Given the description of an element on the screen output the (x, y) to click on. 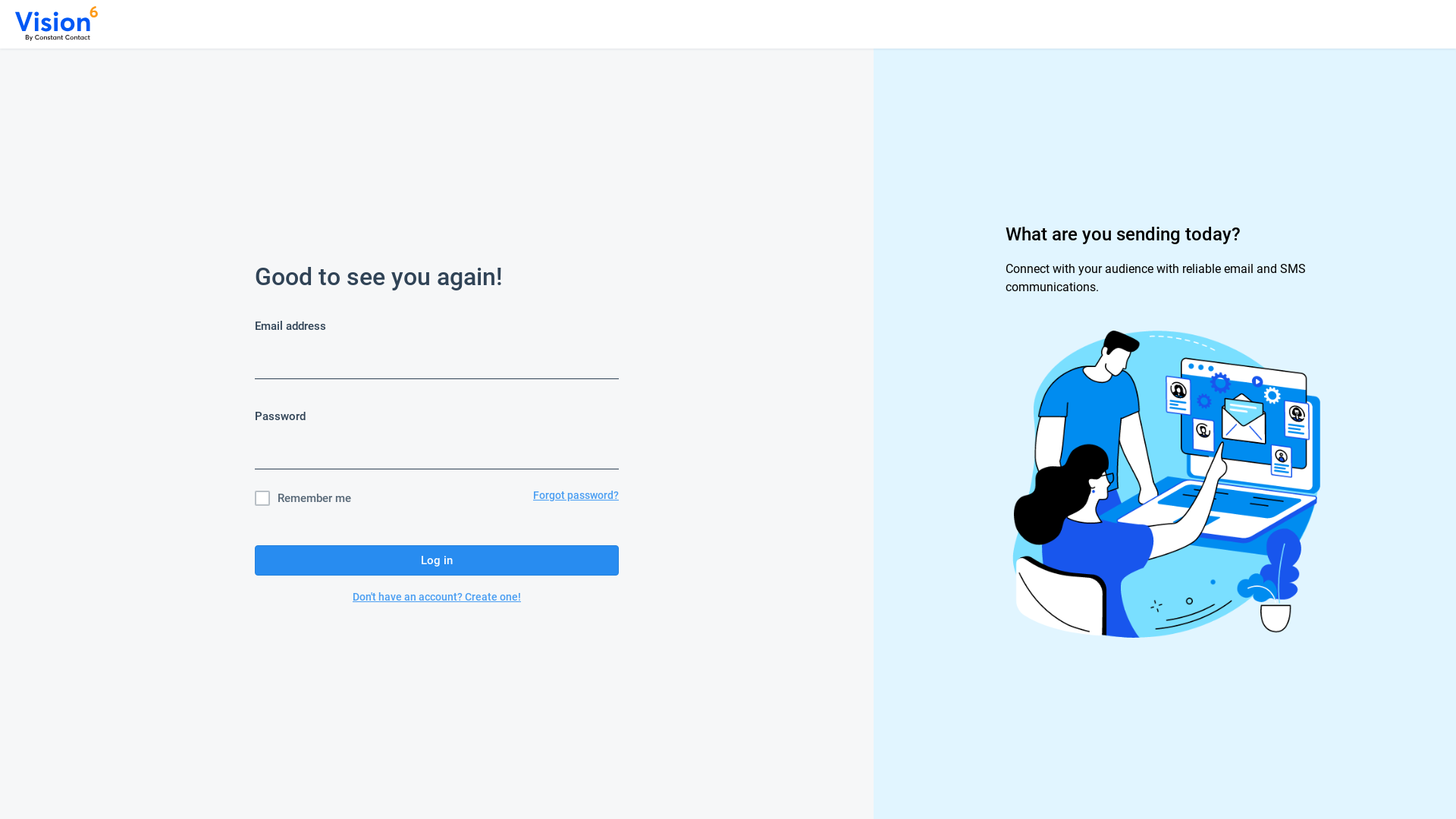
Don't have an account? Create one! Element type: text (436, 596)
Log in Element type: text (436, 560)
Forgot password? Element type: text (575, 498)
